Given the description of an element on the screen output the (x, y) to click on. 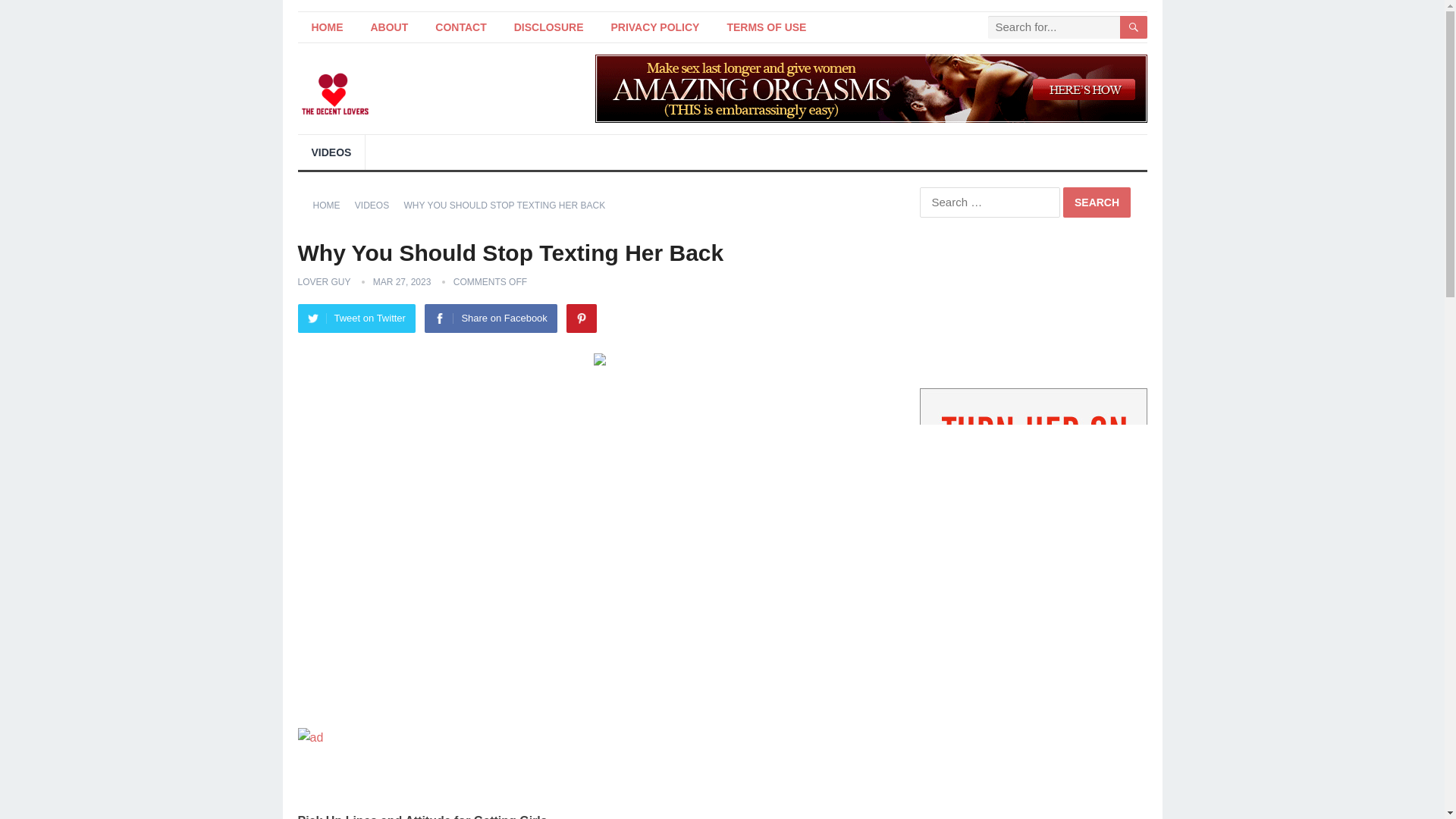
TERMS OF USE (766, 27)
View all posts in Videos (376, 204)
HOME (326, 27)
CONTACT (460, 27)
Share on Facebook (490, 317)
VIDEOS (331, 152)
Posts by Lover Guy (323, 281)
Tweet on Twitter (355, 317)
HOME (331, 204)
DISCLOSURE (548, 27)
PRIVACY POLICY (654, 27)
Search (1096, 202)
LOVER GUY (323, 281)
VIDEOS (376, 204)
